Given the description of an element on the screen output the (x, y) to click on. 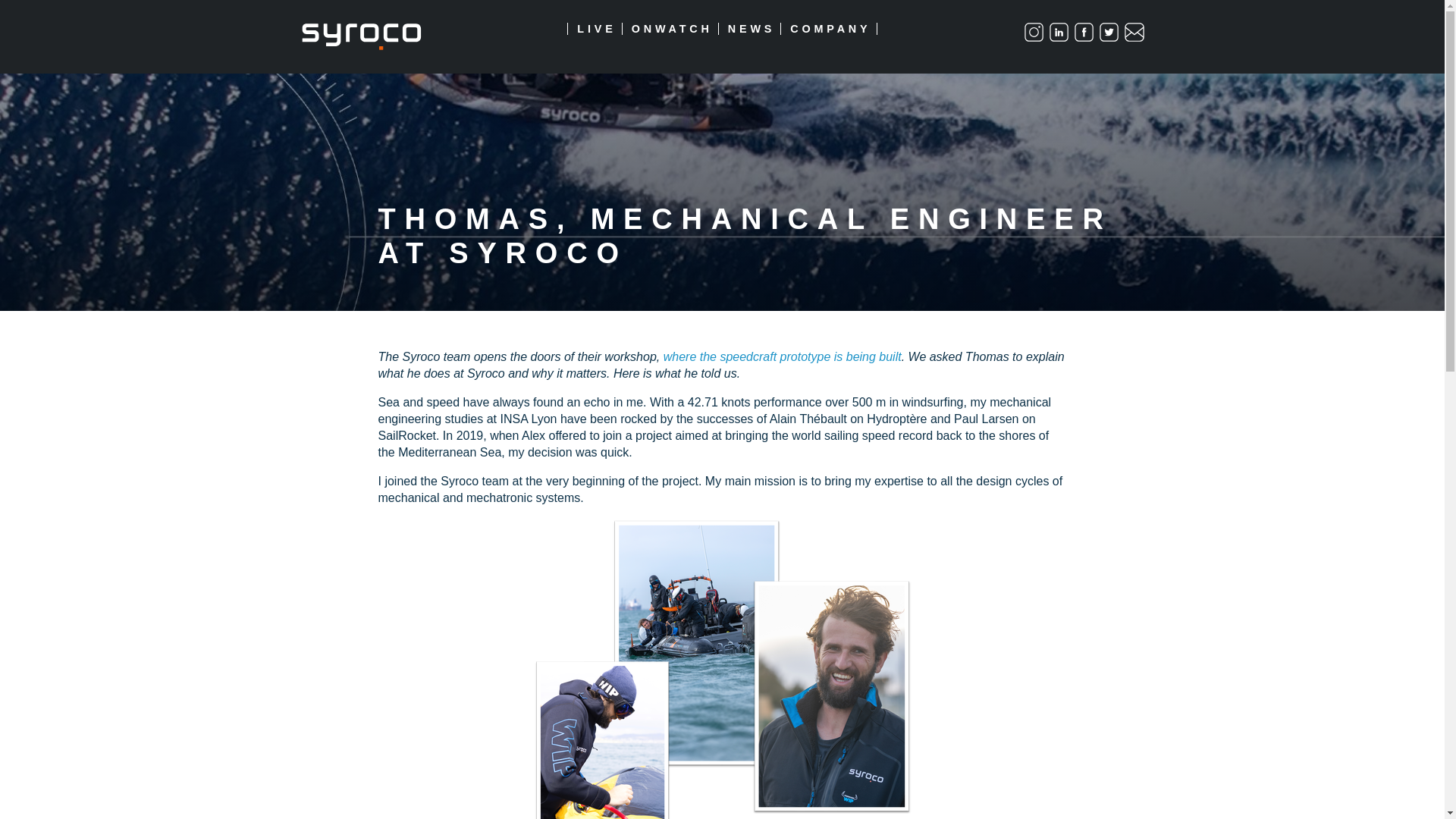
NEWS (748, 28)
where the speedcraft prototype is being built (782, 356)
LIVE (594, 28)
ONWATCH (669, 28)
COMPANY (828, 28)
